Given the description of an element on the screen output the (x, y) to click on. 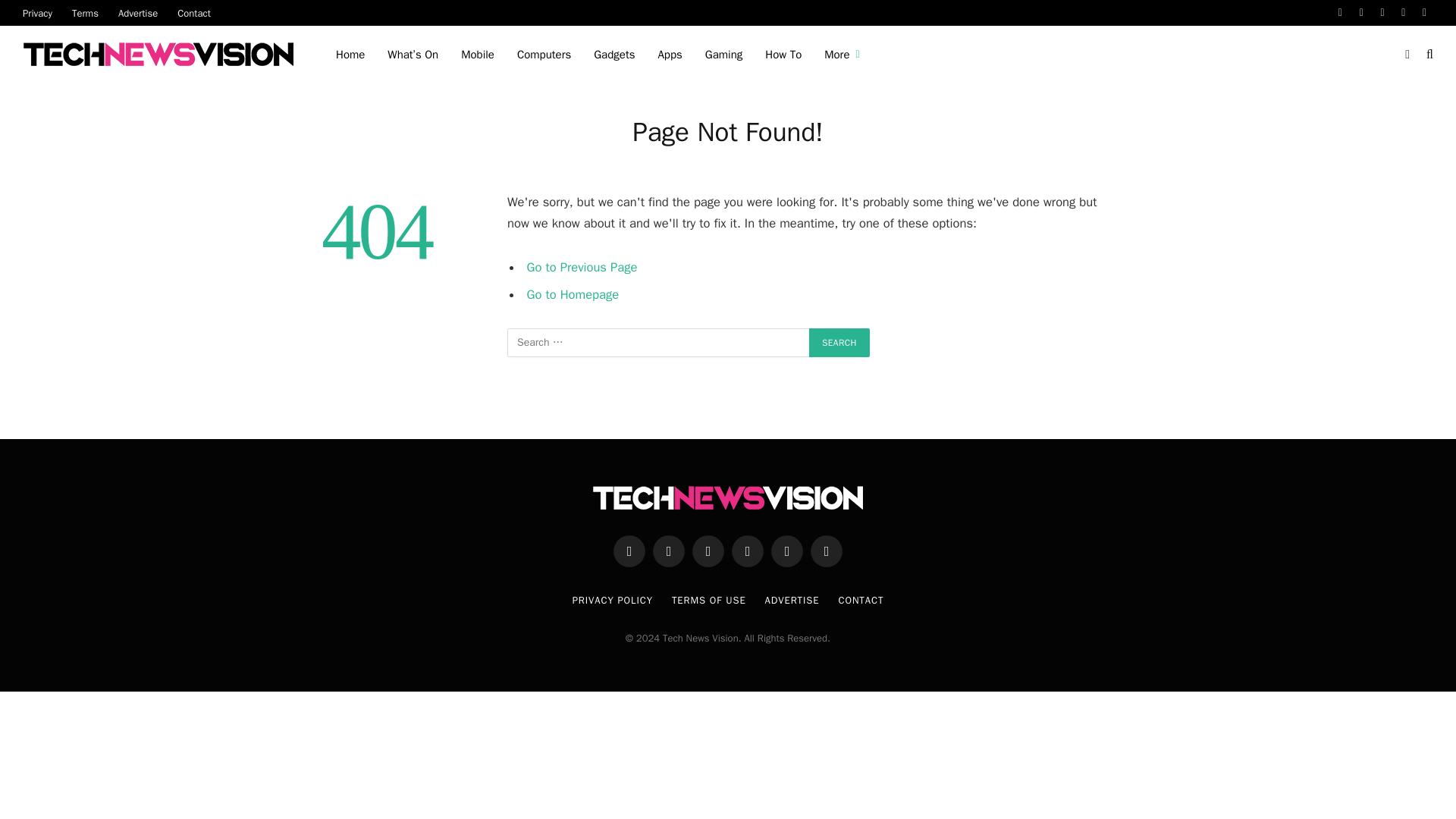
Advertise (137, 12)
Contact (194, 12)
Computers (543, 54)
Mobile (477, 54)
Privacy (37, 12)
Search (839, 342)
Tech News Vision (160, 54)
Search (839, 342)
Switch to Dark Design - easier on eyes. (1406, 54)
Terms (84, 12)
Gadgets (614, 54)
Home (349, 54)
